Given the description of an element on the screen output the (x, y) to click on. 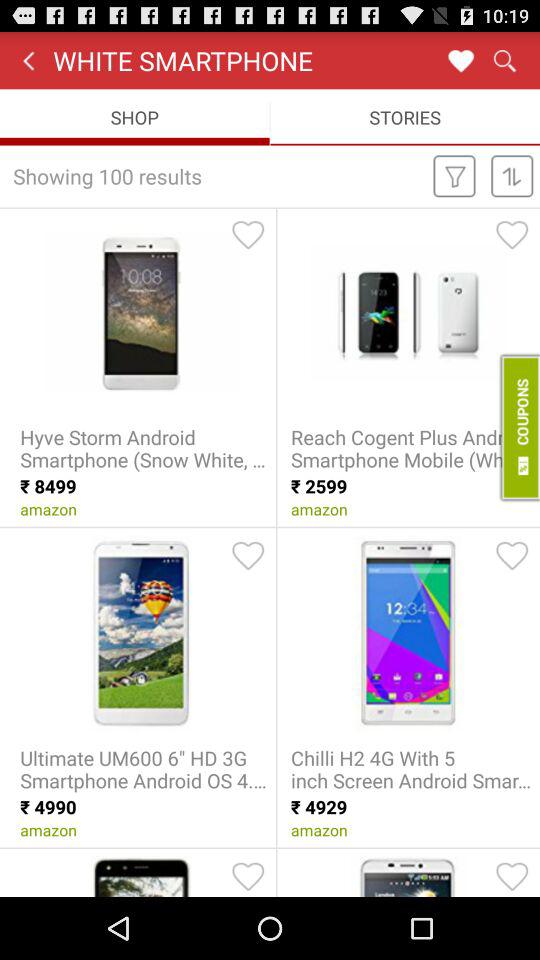
heart button (460, 60)
